Given the description of an element on the screen output the (x, y) to click on. 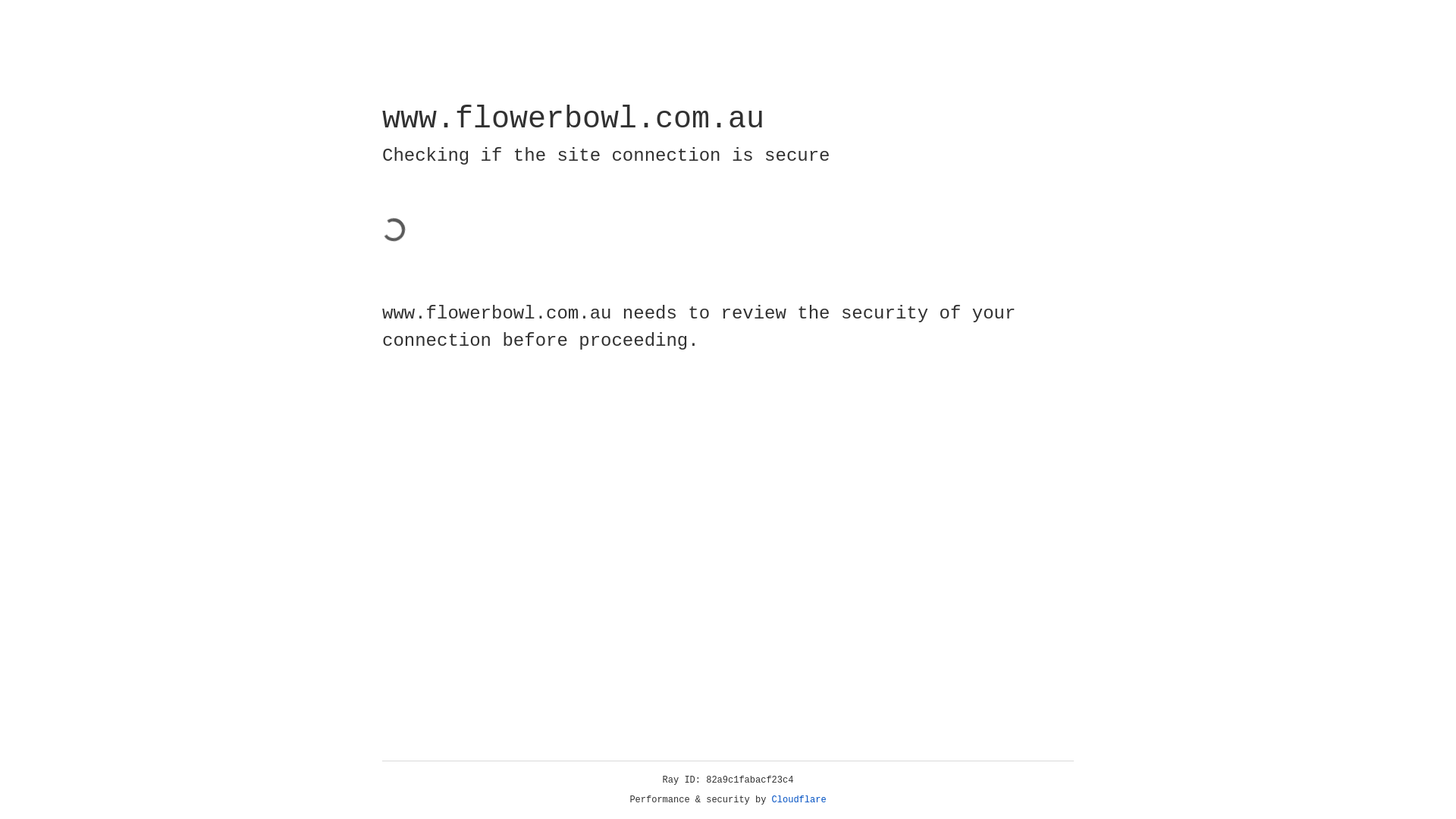
Cloudflare Element type: text (798, 799)
